Given the description of an element on the screen output the (x, y) to click on. 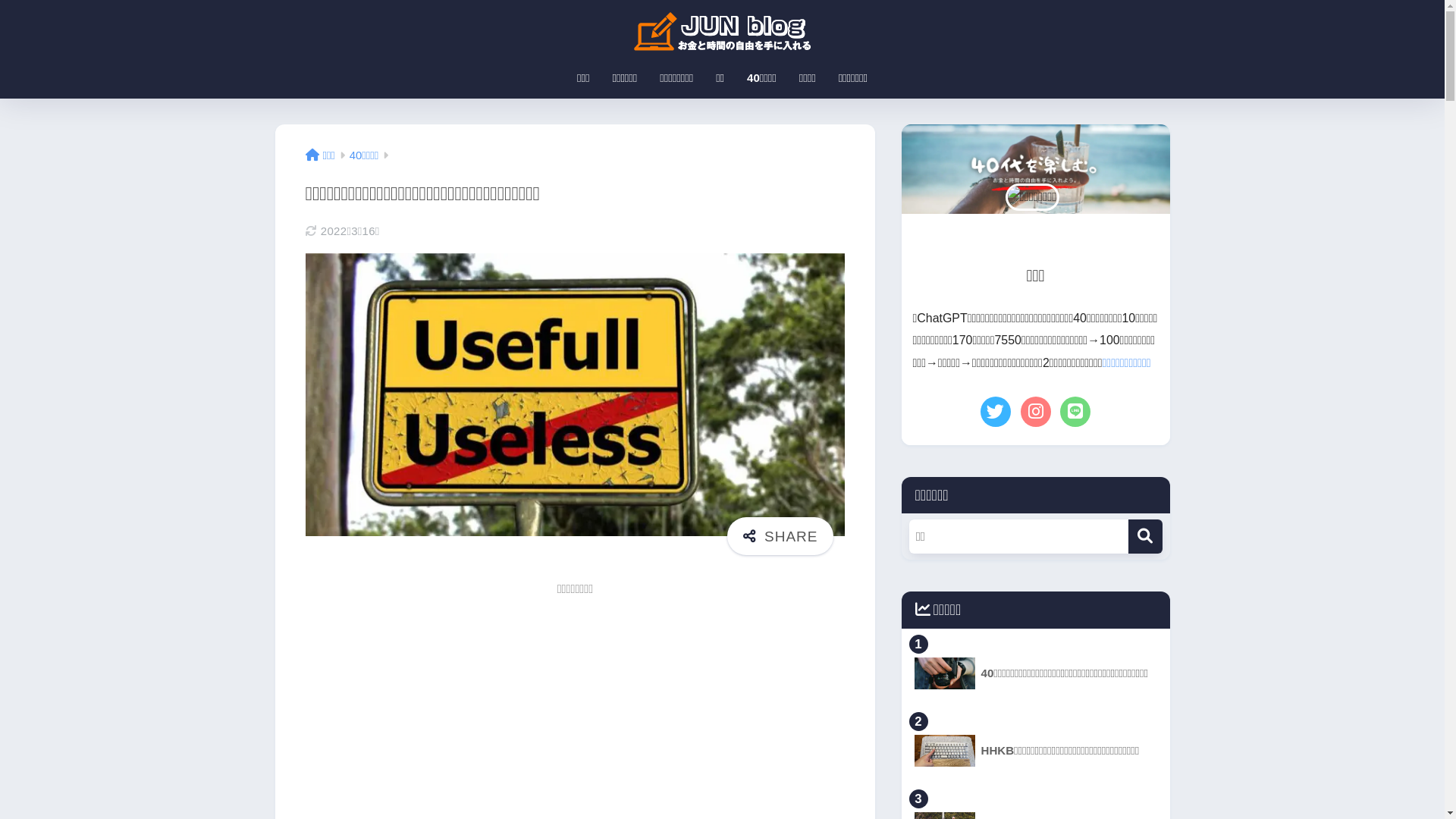
on Element type: text (4, 4)
